Given the description of an element on the screen output the (x, y) to click on. 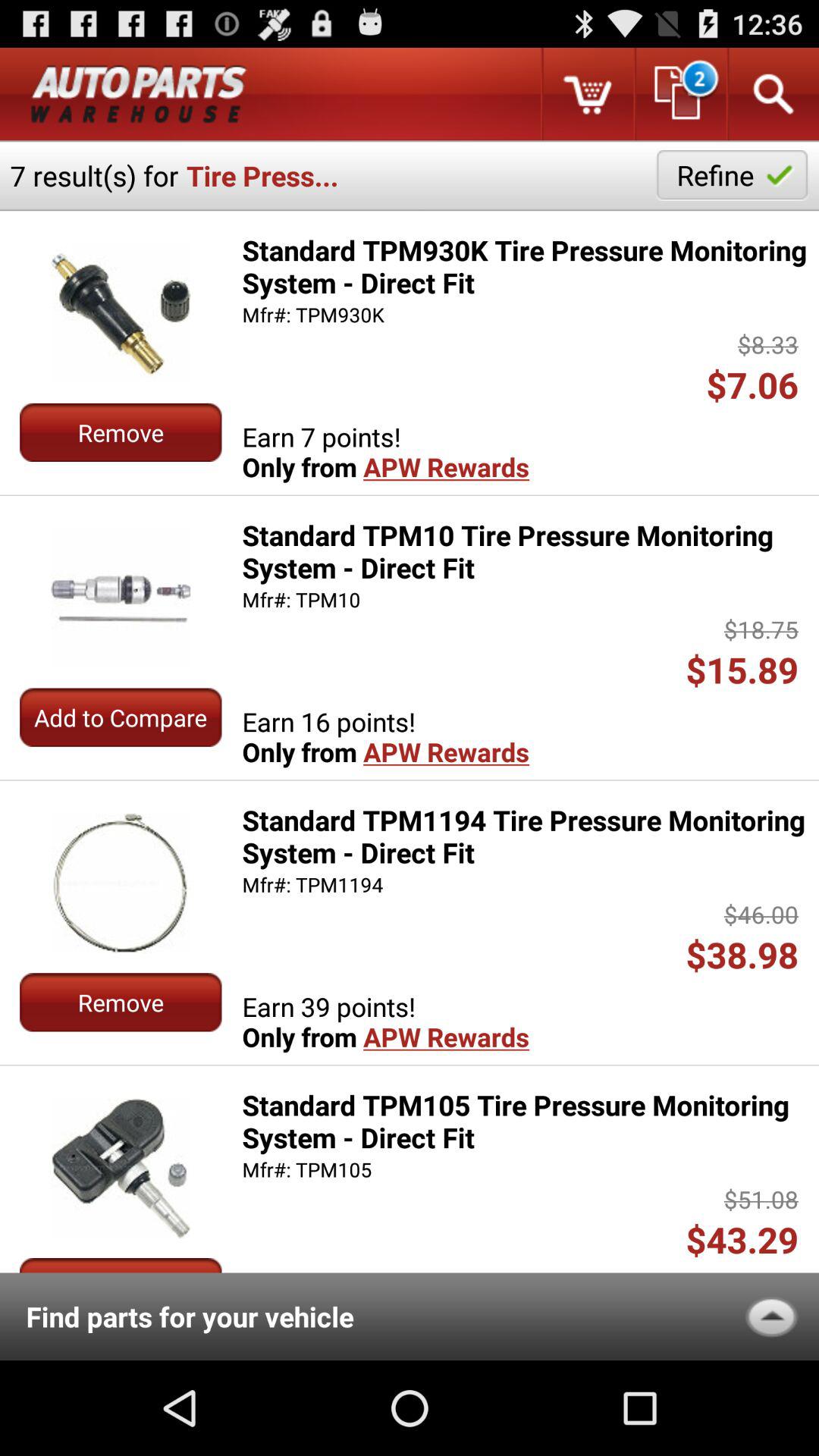
search (772, 93)
